Given the description of an element on the screen output the (x, y) to click on. 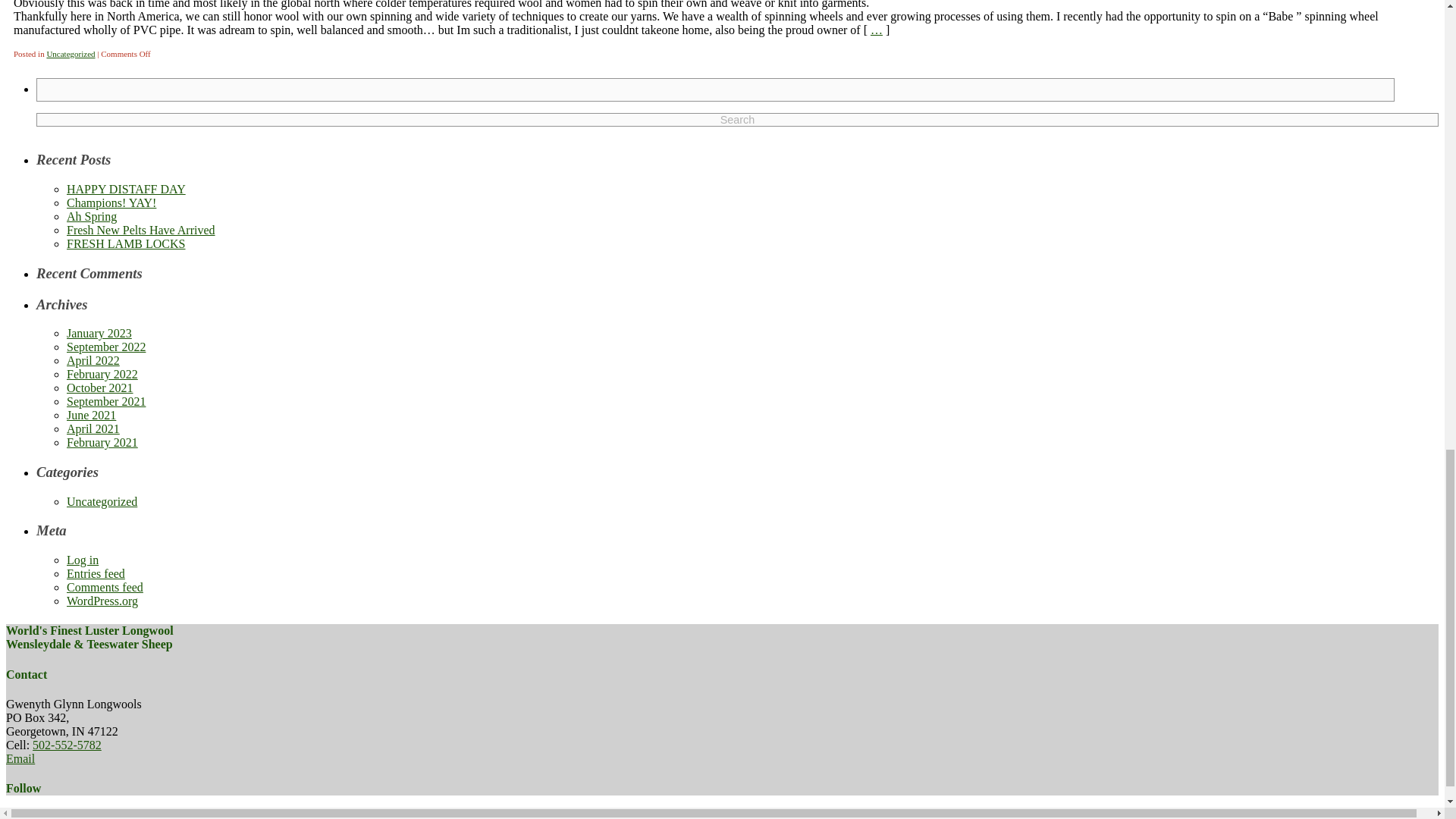
June 2021 (91, 414)
April 2021 (92, 428)
April 2022 (92, 359)
February 2022 (102, 373)
FRESH LAMB LOCKS (125, 243)
October 2021 (99, 387)
Uncategorized (101, 501)
Ah Spring (91, 215)
September 2022 (105, 346)
February 2021 (102, 441)
Uncategorized (70, 53)
Fresh New Pelts Have Arrived (140, 229)
Log in (82, 559)
